Given the description of an element on the screen output the (x, y) to click on. 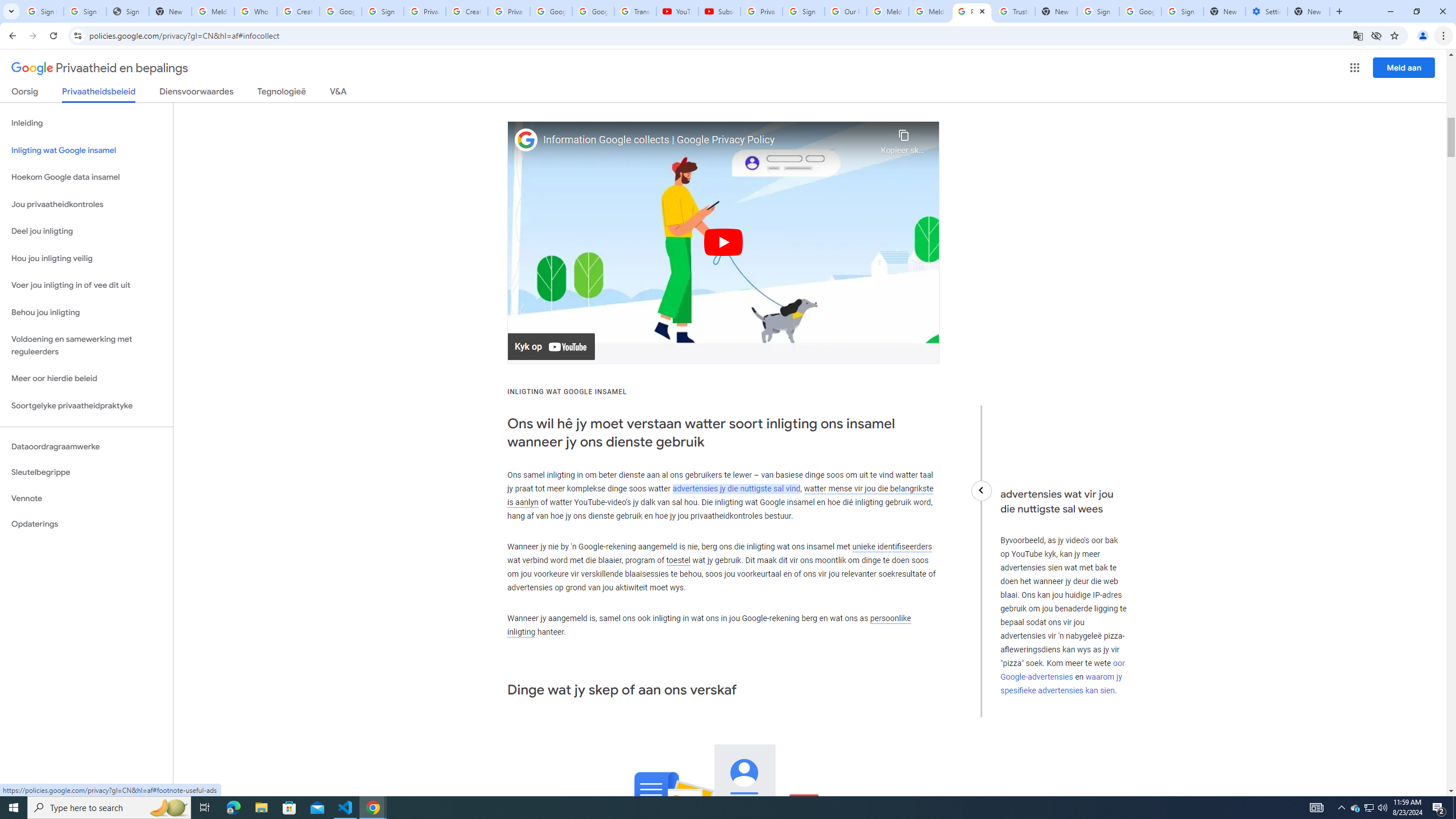
watter mense vir jou die belangrikste is aanlyn (719, 495)
Meer oor hierdie beleid (86, 379)
Settings - Addresses and more (1266, 11)
Opdaterings (86, 524)
persoonlike inligting (708, 625)
waarom jy spesifieke advertensies kan sien (1061, 683)
Deel jou inligting (86, 230)
